Given the description of an element on the screen output the (x, y) to click on. 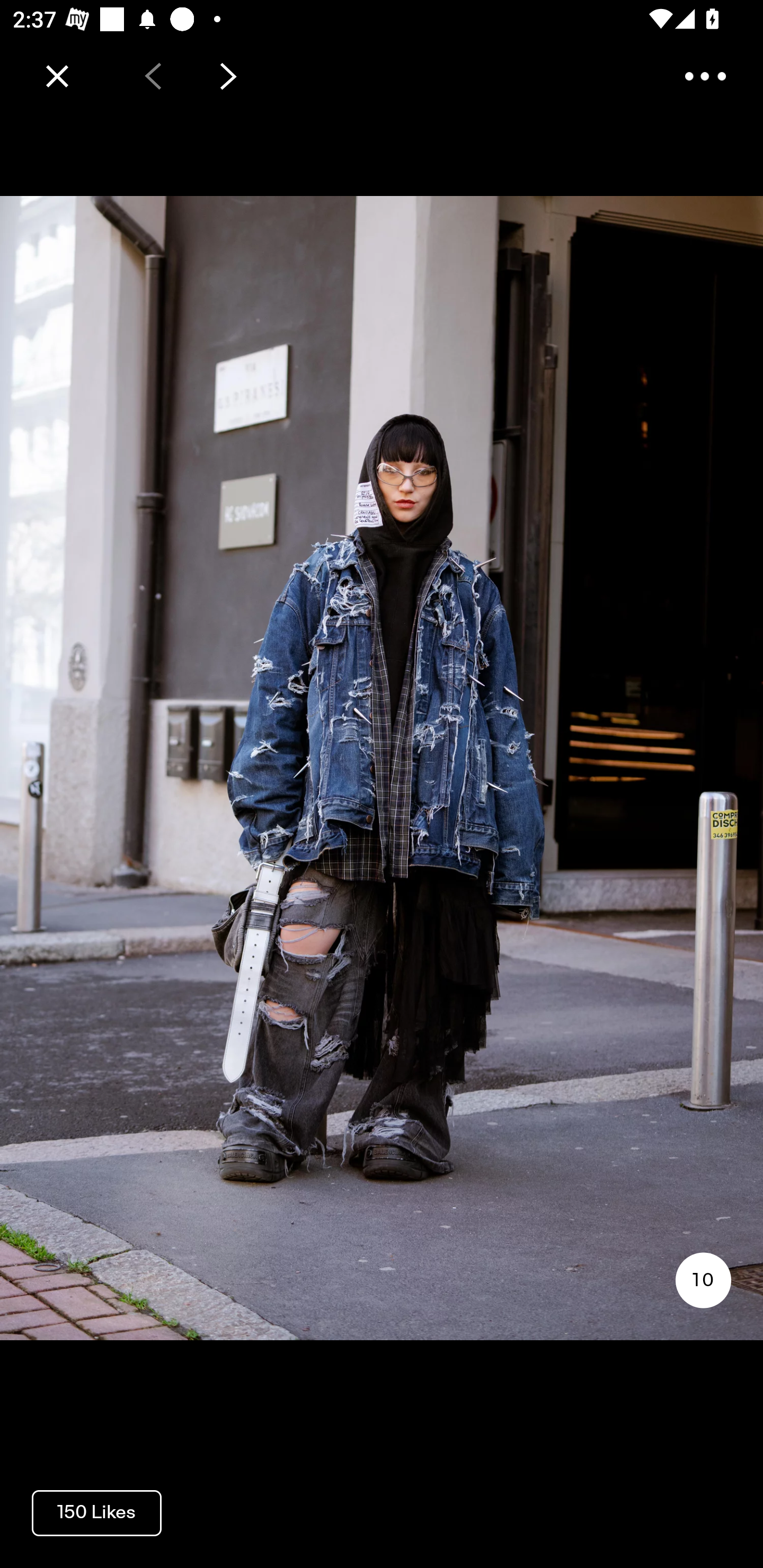
10 (702, 1279)
150 Likes (96, 1512)
